Given the description of an element on the screen output the (x, y) to click on. 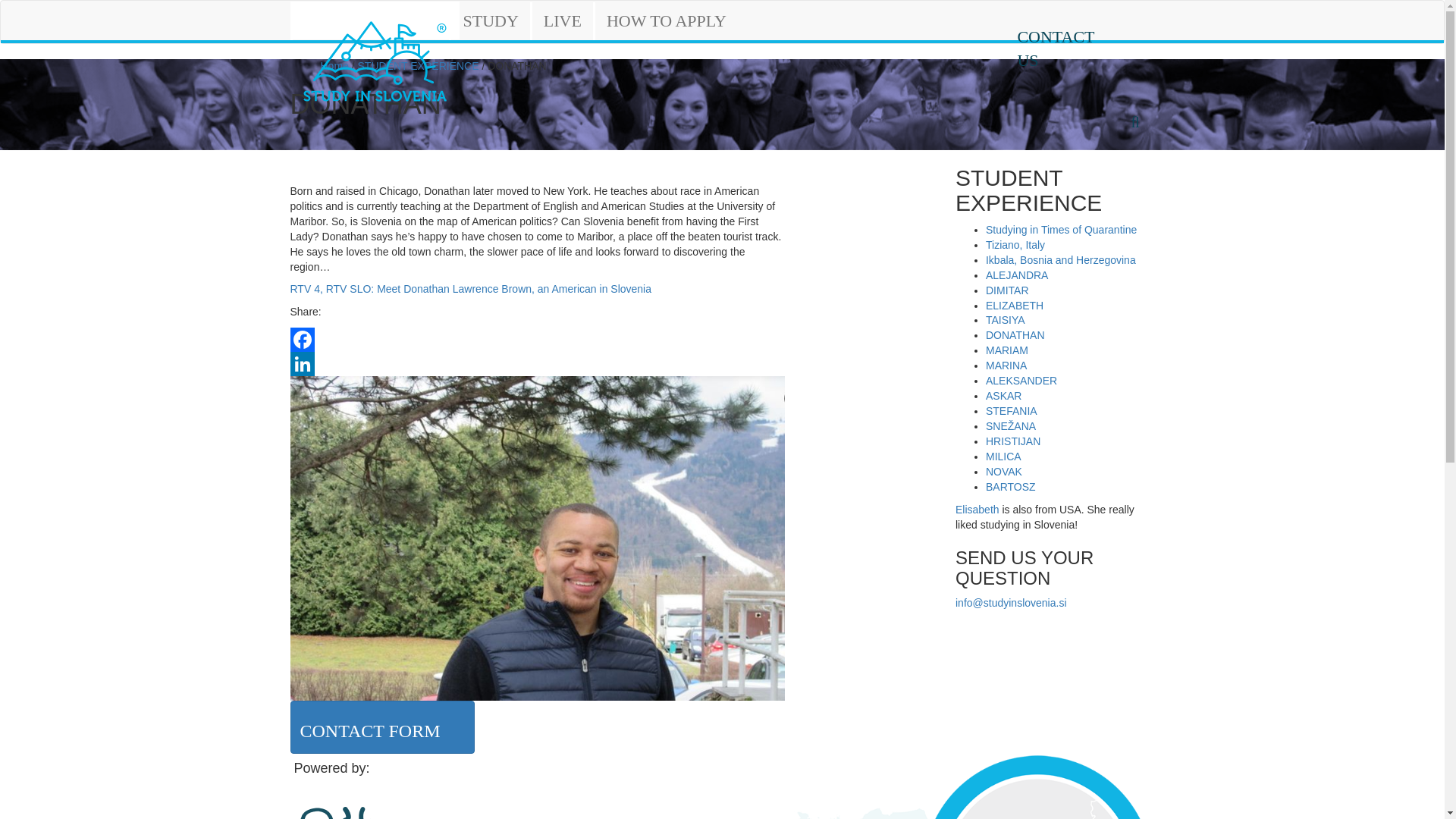
LinkedIn (536, 363)
HOW TO APPLY (666, 21)
Facebook (536, 339)
WHY SLOVENIA? (370, 21)
CONTACT US (1065, 45)
STUDY (490, 21)
Go to Study in Slovenia. (333, 65)
LIVE (562, 21)
Home (333, 65)
